Given the description of an element on the screen output the (x, y) to click on. 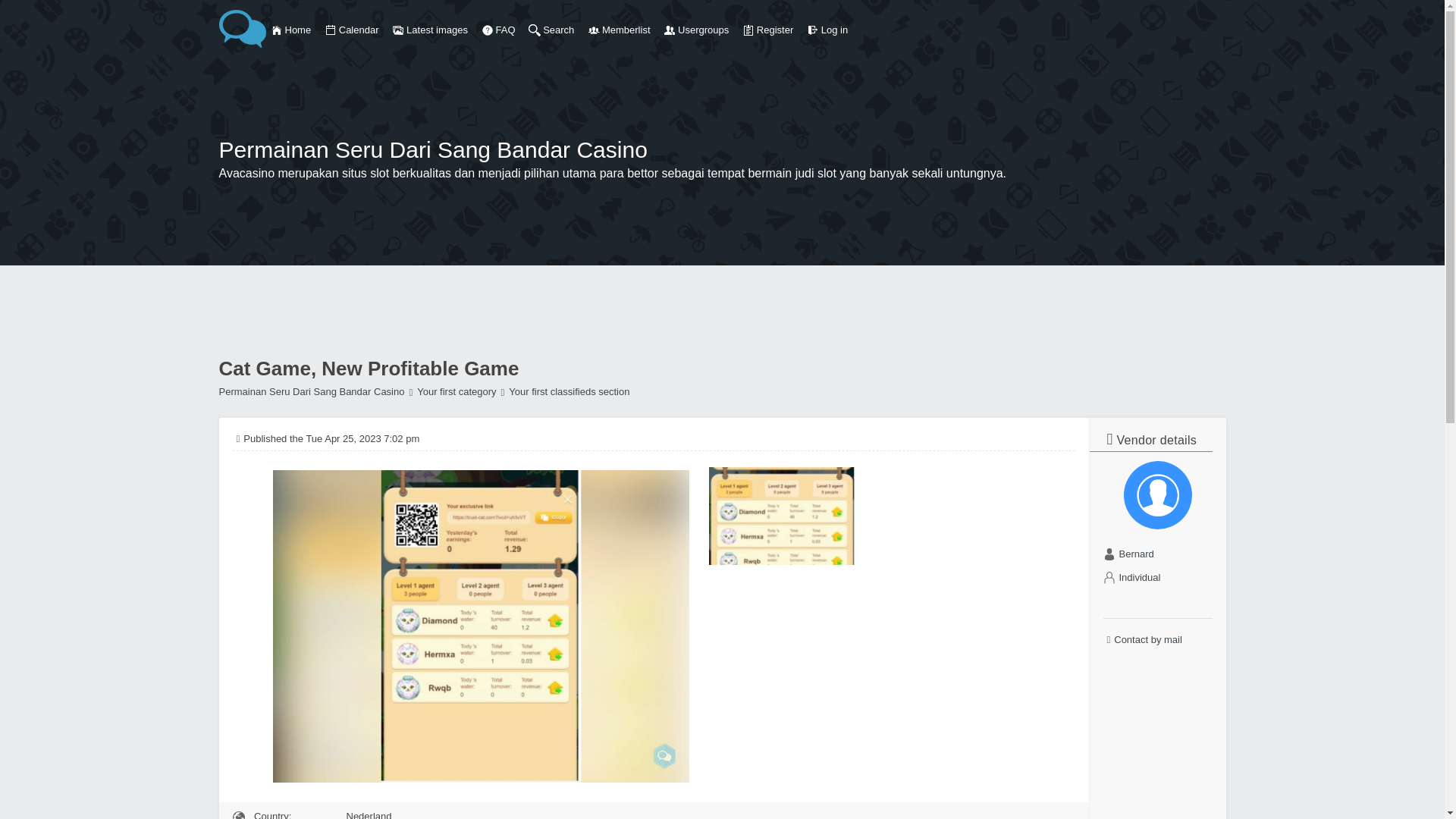
Memberlist (593, 30)
Contact by mail (1156, 639)
Usergroups (669, 30)
FAQ (498, 29)
Home (275, 30)
Latest images (429, 29)
Register (748, 30)
Calendar (352, 29)
Calendar (330, 30)
Memberlist (619, 29)
Log in (812, 30)
Log in (826, 29)
Bernard (1136, 553)
Latest images (397, 30)
FAQ (487, 30)
